Given the description of an element on the screen output the (x, y) to click on. 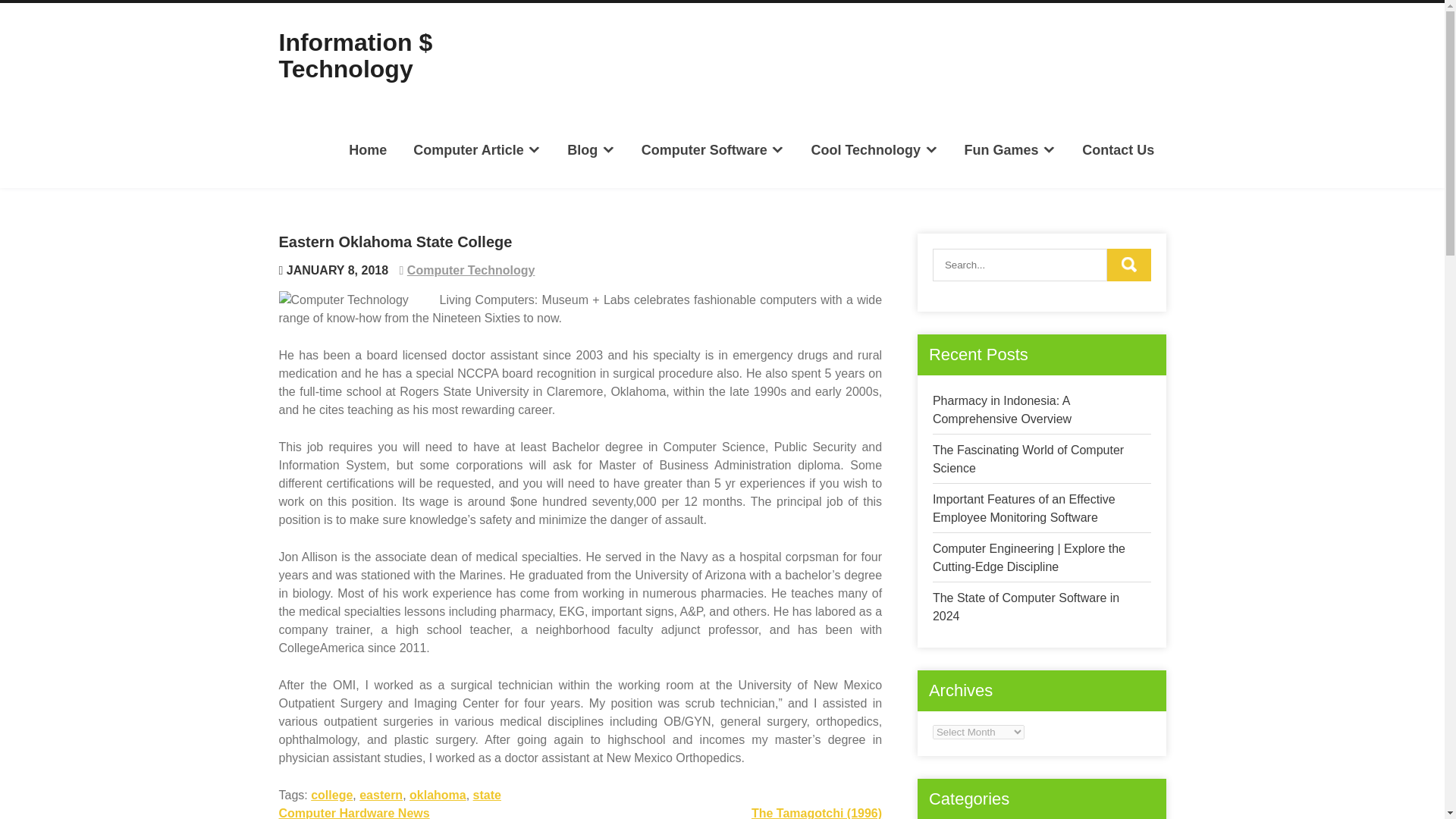
Cool Technology (874, 149)
Computer Technology (471, 269)
Blog (591, 149)
Search (1128, 264)
Computer Software (713, 149)
Contact Us (1118, 149)
Computer Article (476, 149)
Home (367, 149)
Search (1128, 264)
Fun Games (1009, 149)
